Given the description of an element on the screen output the (x, y) to click on. 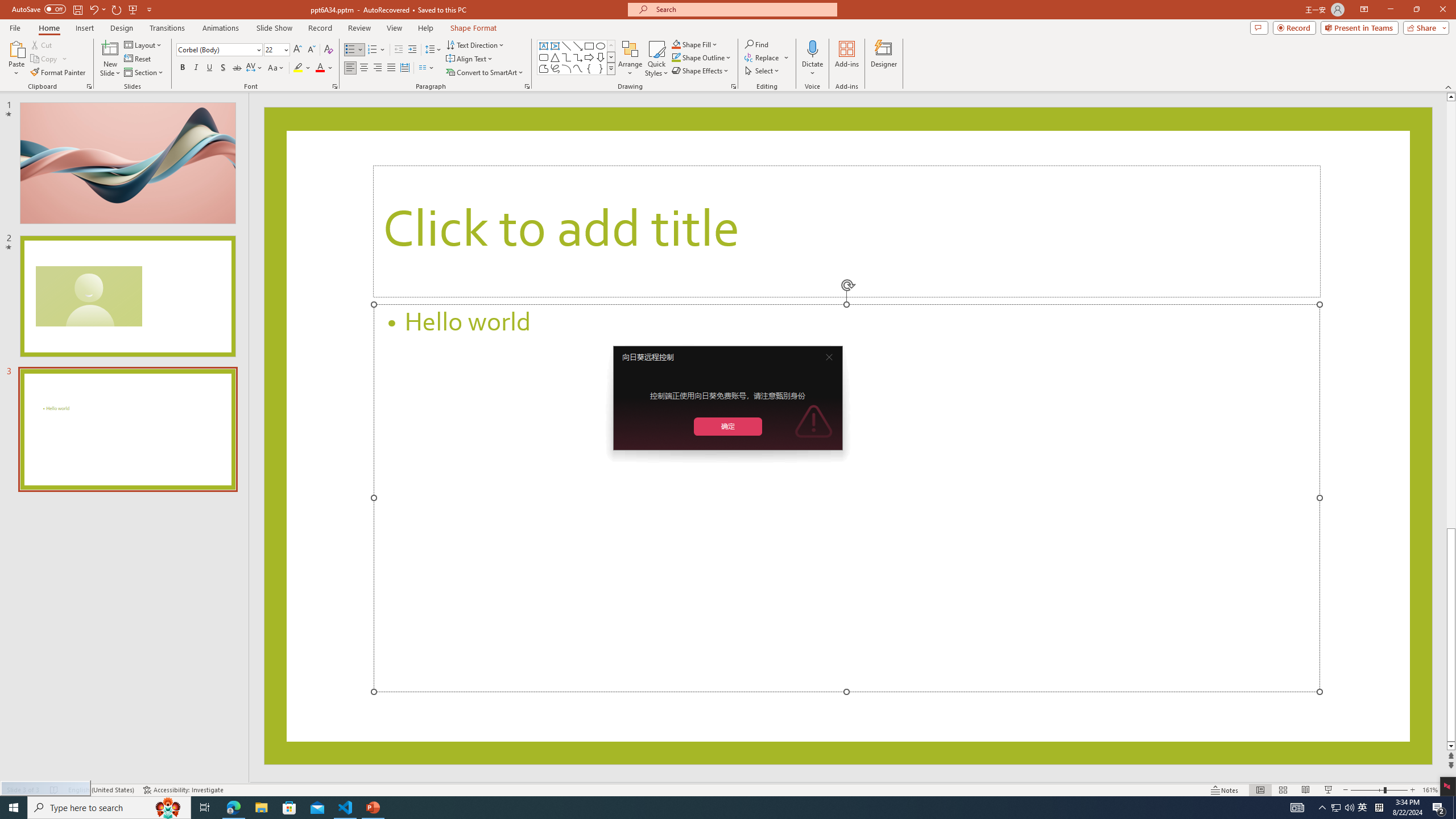
Zoom 161% (1430, 790)
